Given the description of an element on the screen output the (x, y) to click on. 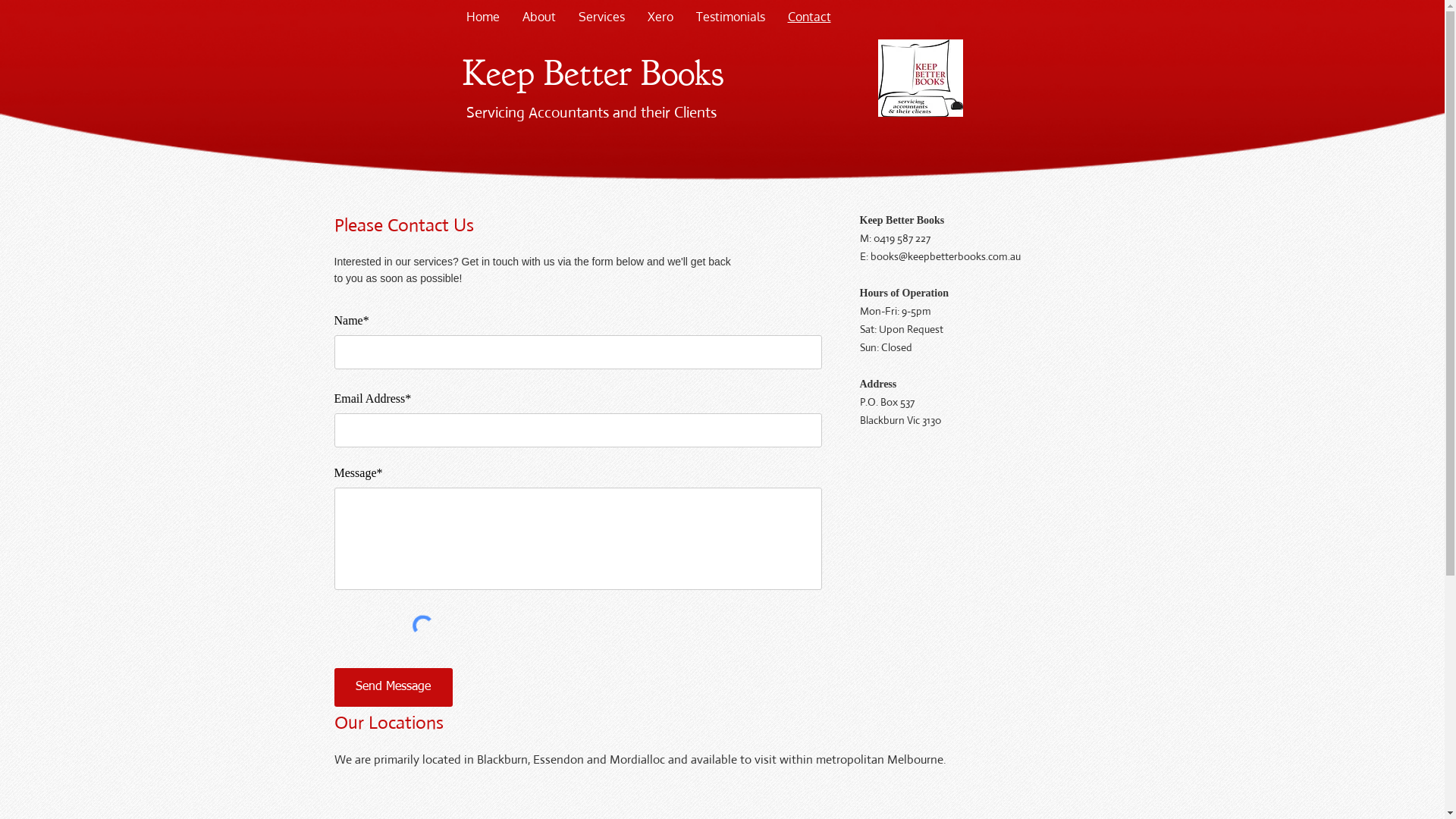
books@keepbetterbooks.com.au Element type: text (945, 256)
Xero Element type: text (659, 16)
About Element type: text (539, 16)
Send Message Element type: text (392, 687)
Contact Element type: text (809, 16)
Home Element type: text (483, 16)
Testimonials Element type: text (729, 16)
Services Element type: text (601, 16)
